Given the description of an element on the screen output the (x, y) to click on. 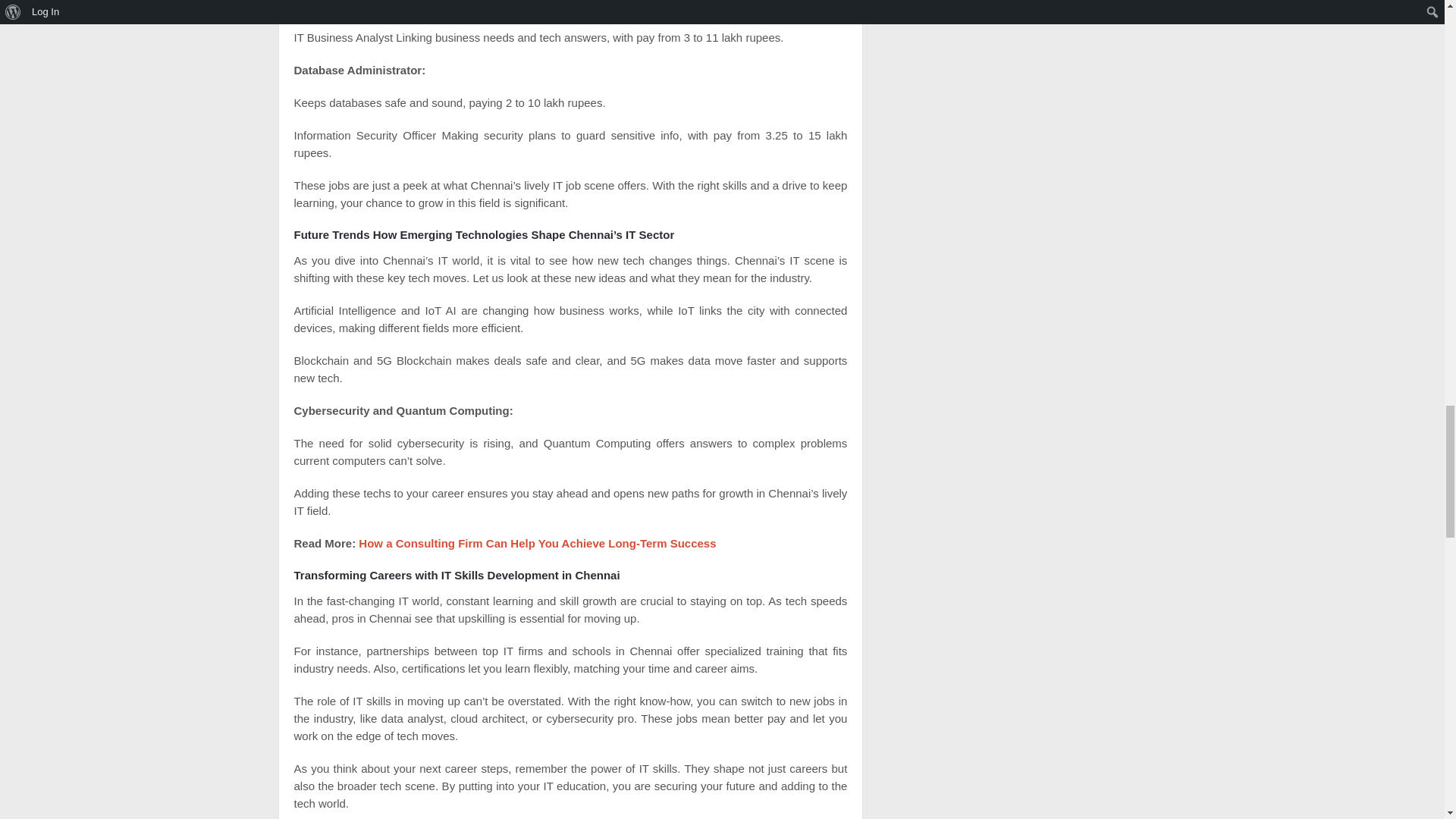
How a Consulting Firm Can Help You Achieve Long-Term Success (537, 543)
